Given the description of an element on the screen output the (x, y) to click on. 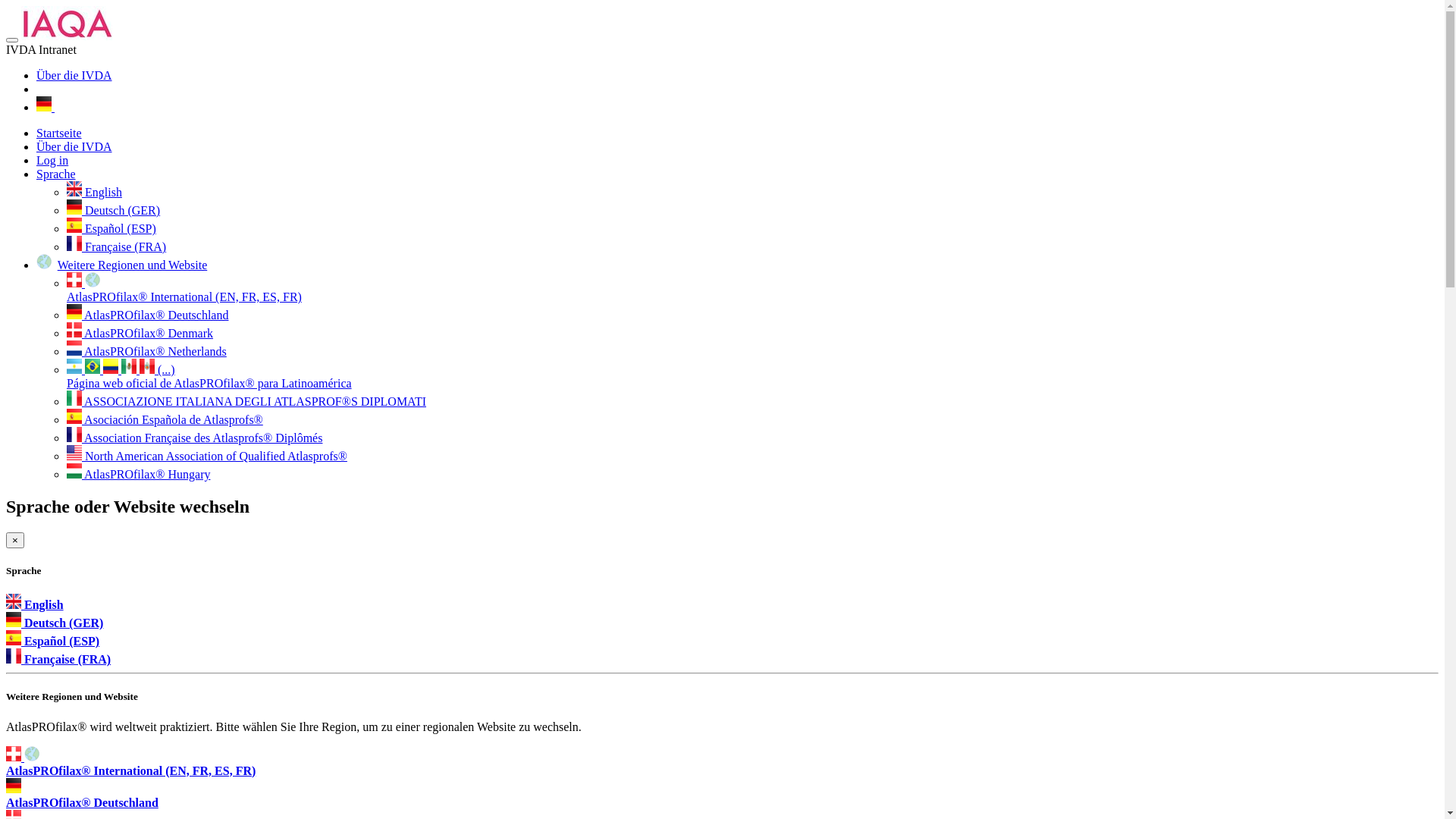
Sprache Element type: text (55, 173)
 English Element type: text (94, 191)
 English Element type: text (34, 604)
Startseite Element type: text (58, 132)
  Element type: text (45, 106)
 Deutsch (GER) Element type: text (54, 622)
Home Element type: hover (66, 23)
Weitere Regionen und Website Element type: text (132, 264)
Log in Element type: text (52, 159)
 Deutsch (GER) Element type: text (113, 209)
